Given the description of an element on the screen output the (x, y) to click on. 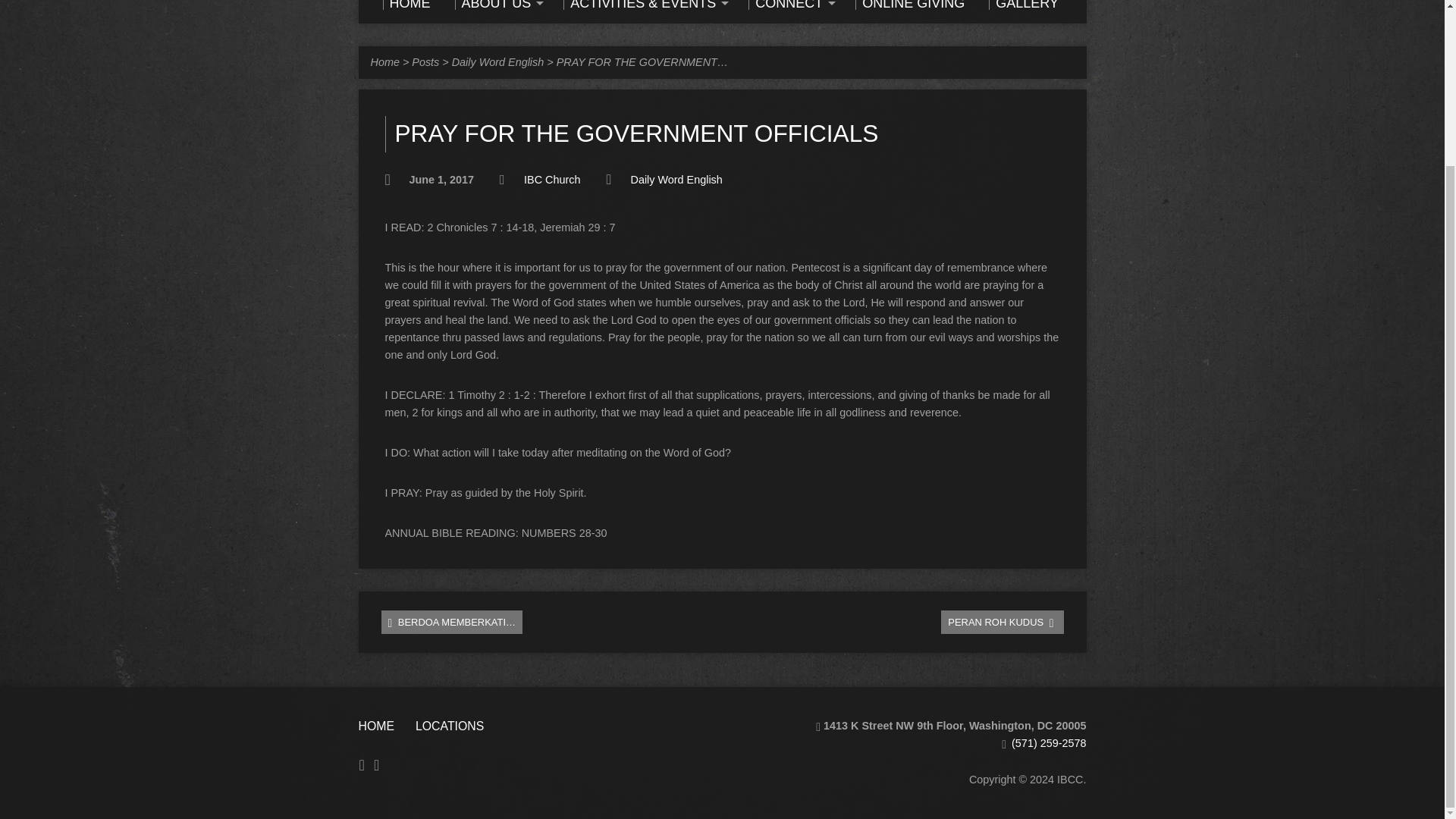
HOME (405, 4)
Posts (425, 61)
IBC Church (551, 179)
ABOUT US (497, 4)
ONLINE GIVING (909, 4)
Home (383, 61)
GALLERY (1023, 4)
Daily Word English (497, 61)
CONNECT (789, 4)
